Given the description of an element on the screen output the (x, y) to click on. 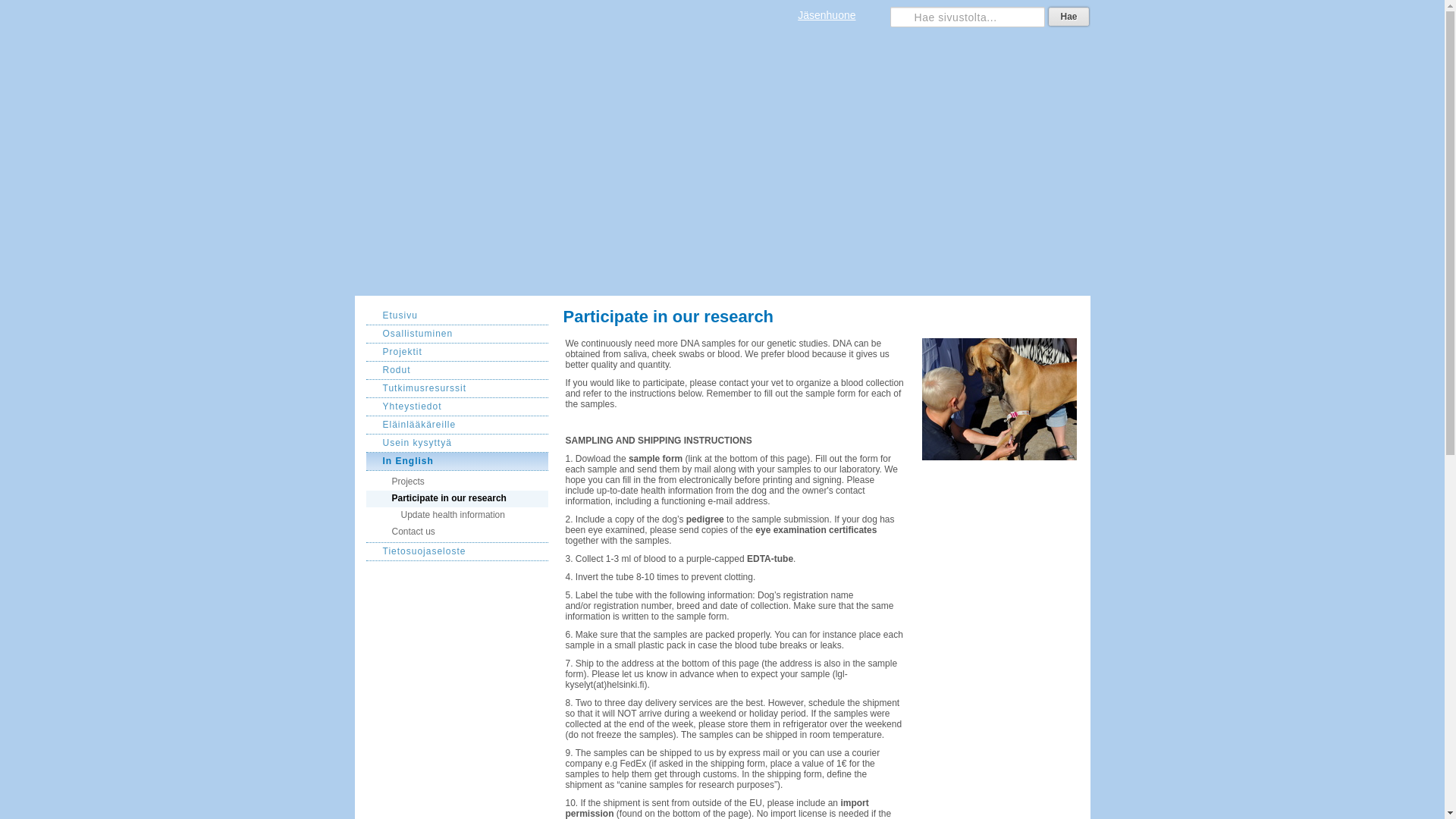
Update health information (456, 515)
Yhteystiedot (456, 407)
Hae sivustolta... (967, 16)
Tietosuojaseloste (456, 551)
Contact us (456, 533)
Hae (1067, 16)
Hae (1067, 16)
Tutkimusresurssit (456, 389)
Osallistuminen (456, 334)
Participate in our research (456, 498)
